Given the description of an element on the screen output the (x, y) to click on. 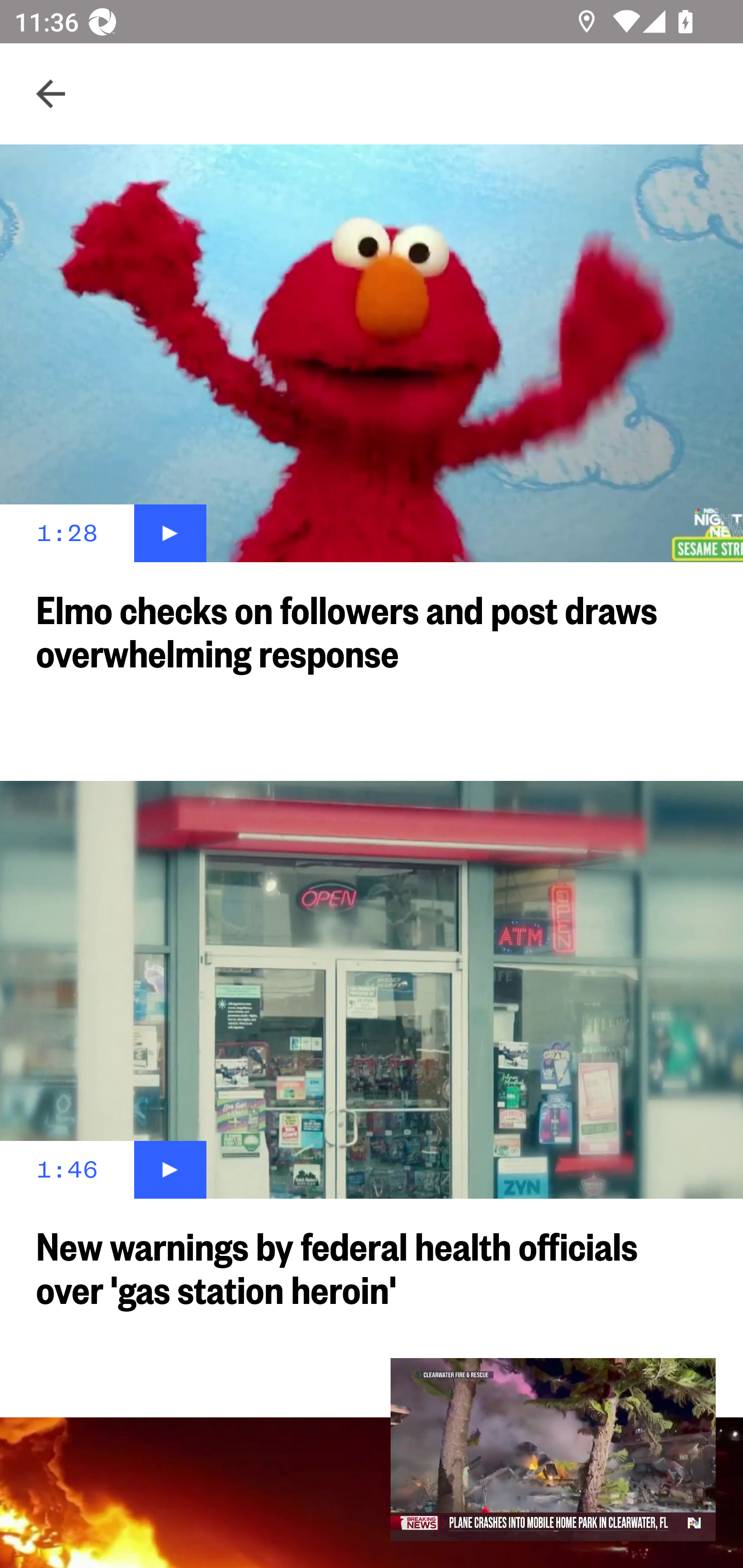
Navigate up (50, 93)
